Given the description of an element on the screen output the (x, y) to click on. 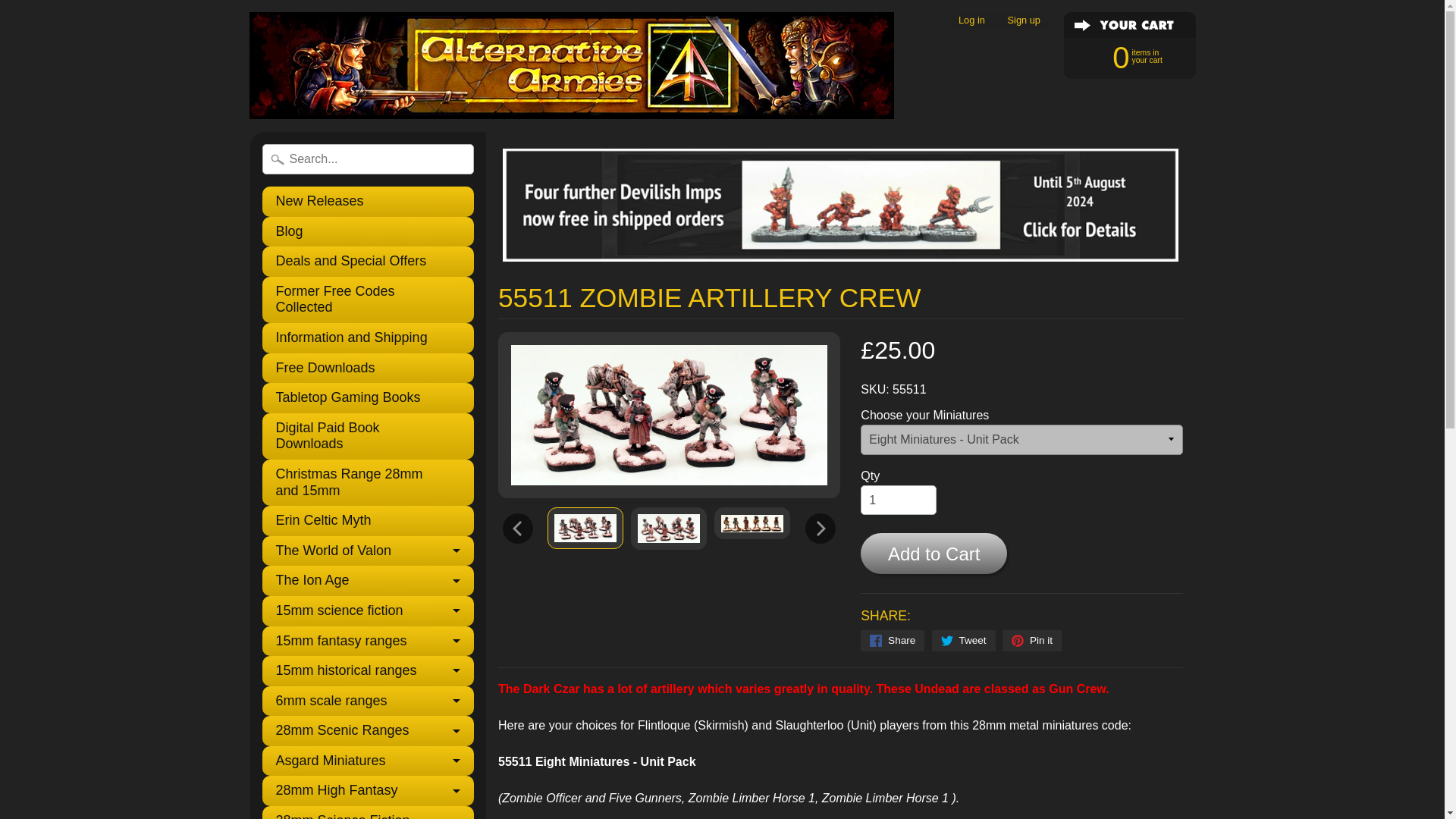
Share on Facebook (892, 640)
Blog (368, 232)
Erin Celtic Myth (368, 521)
New Releases (368, 201)
Free Downloads (368, 368)
Christmas Range 28mm and 15mm (368, 482)
55511 Zombie Artillery Crew (668, 527)
Log in (970, 20)
Tweet on Twitter (963, 640)
1 (898, 500)
Sign up (1122, 56)
55511 Zombie Artillery Crew (1024, 20)
Former Free Codes Collected (752, 522)
Alternative Armies (368, 299)
